Given the description of an element on the screen output the (x, y) to click on. 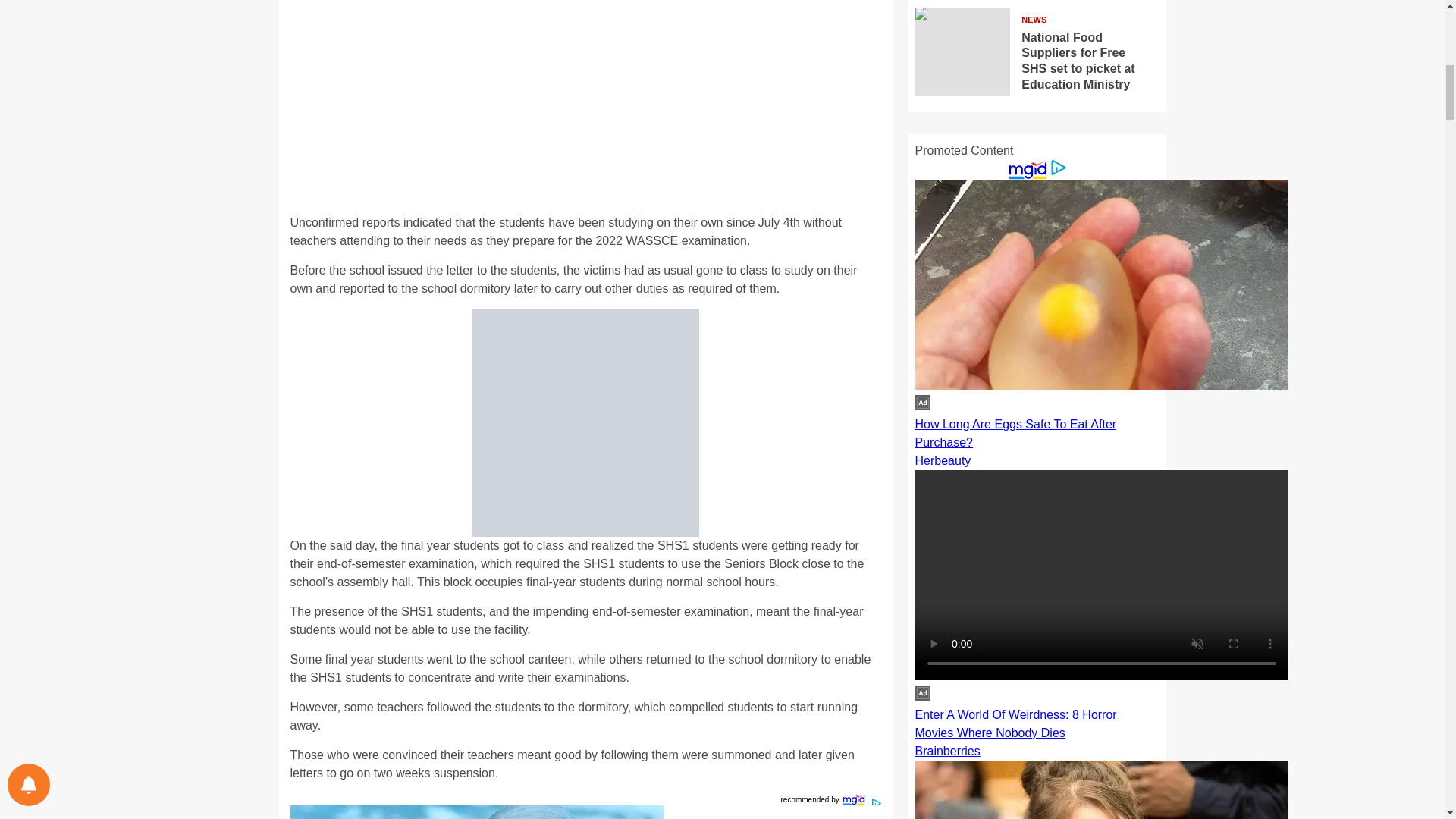
Advertisement (584, 107)
